Given the description of an element on the screen output the (x, y) to click on. 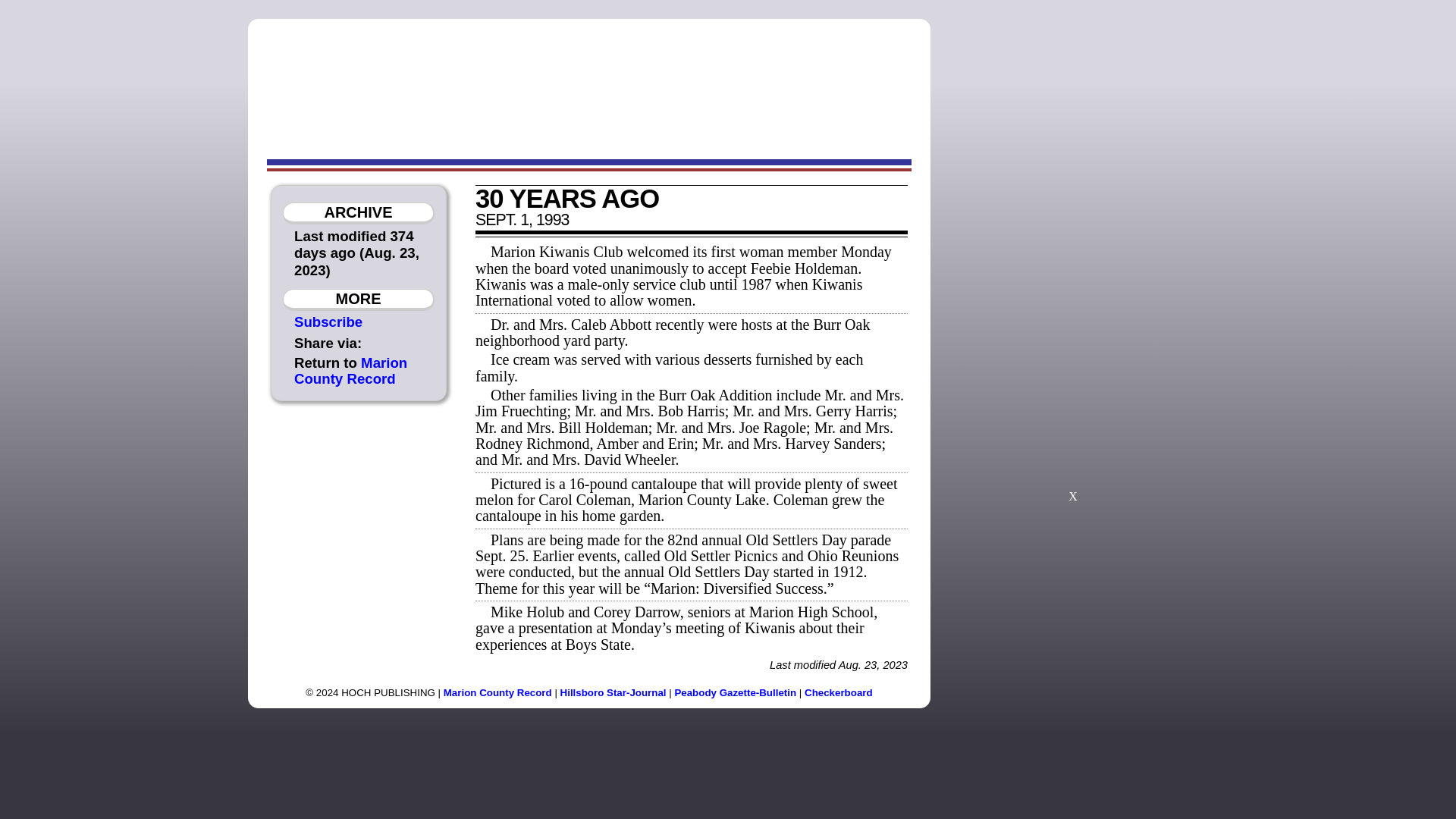
Peabody Gazette-Bulletin (735, 692)
Hillsboro Star-Journal (613, 692)
Marion County Record (350, 370)
Subscribe (328, 321)
Checkerboard (838, 692)
Marion County Record (497, 692)
